Given the description of an element on the screen output the (x, y) to click on. 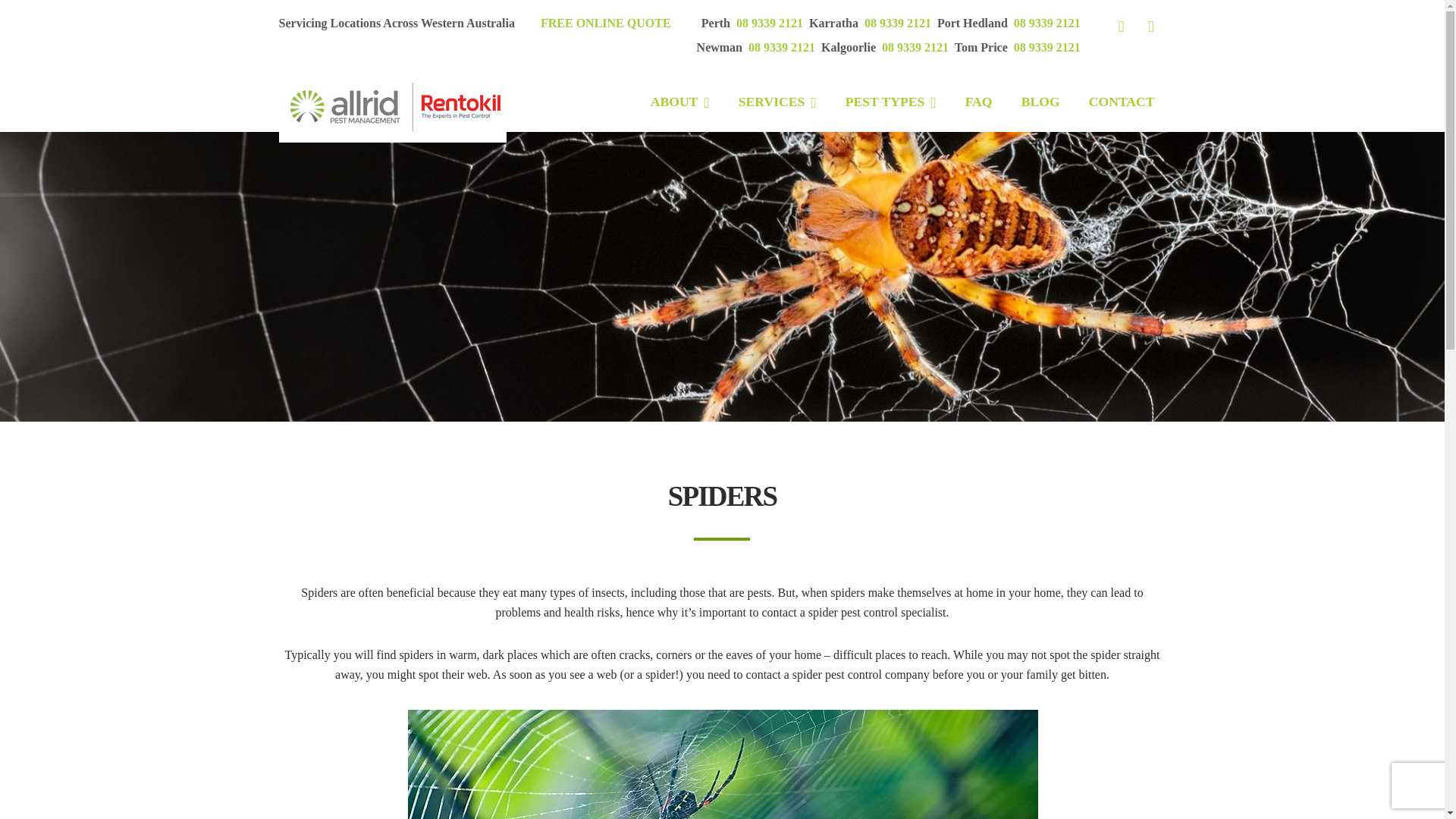
08 9339 2121 (1046, 22)
08 9339 2121 (781, 46)
spiders1 (722, 764)
08 9339 2121 (897, 22)
LinkedIn (1150, 25)
08 9339 2121 (769, 22)
08 9339 2121 (1046, 46)
FREE ONLINE QUOTE (605, 22)
Facebook (1120, 25)
ABOUT (679, 101)
08 9339 2121 (915, 46)
